Given the description of an element on the screen output the (x, y) to click on. 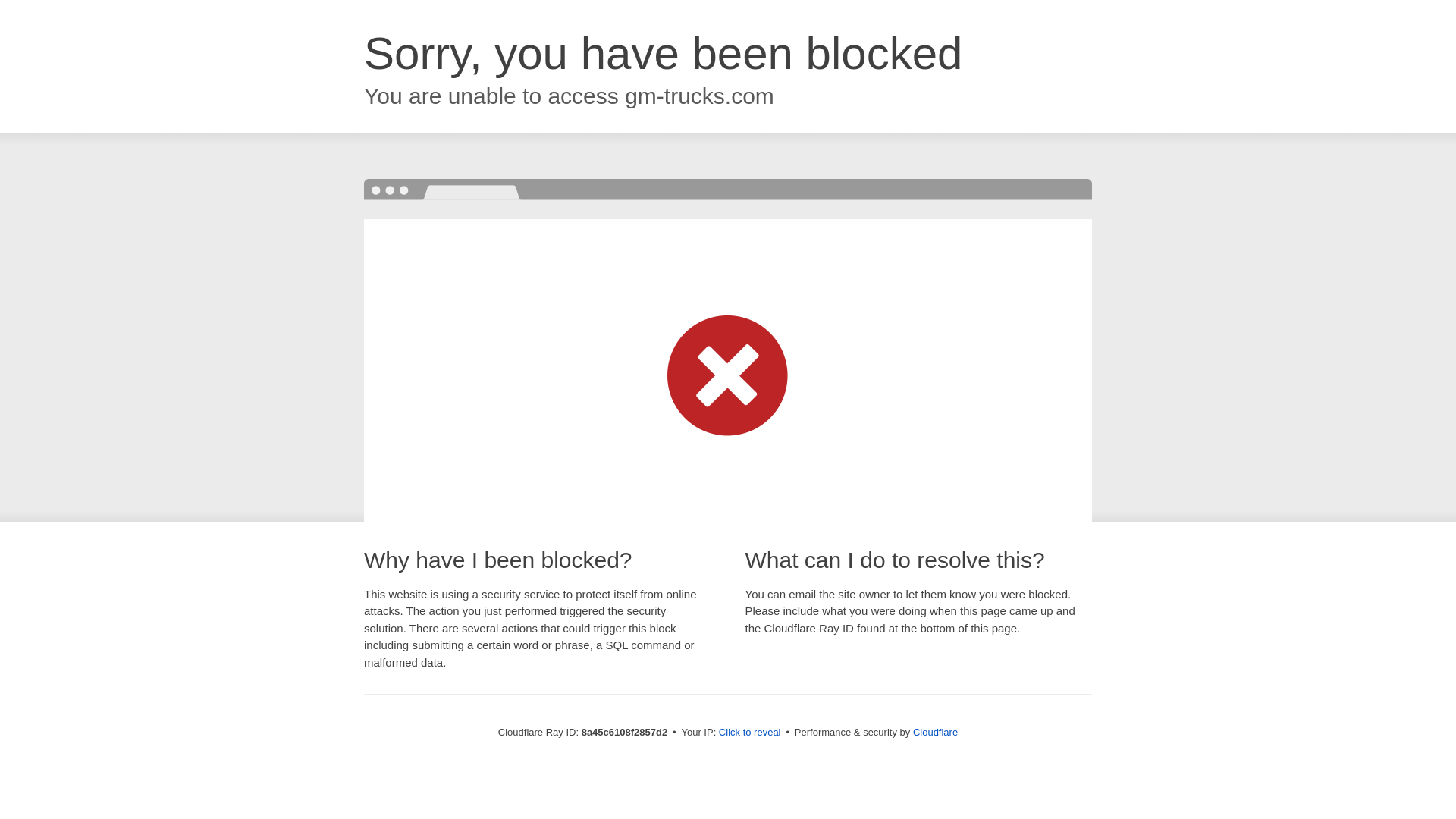
Click to reveal (749, 732)
Cloudflare (935, 731)
